Given the description of an element on the screen output the (x, y) to click on. 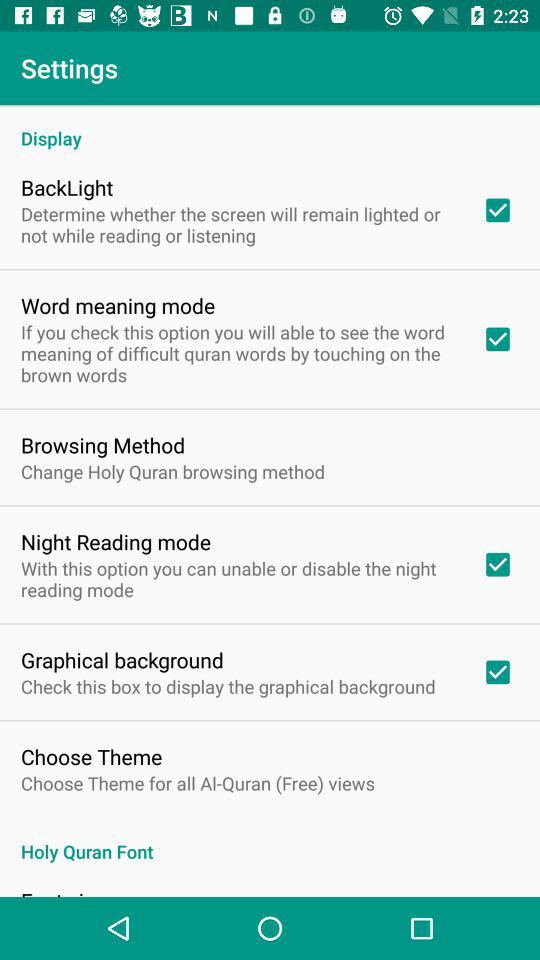
turn on the icon above browsing method (238, 353)
